Given the description of an element on the screen output the (x, y) to click on. 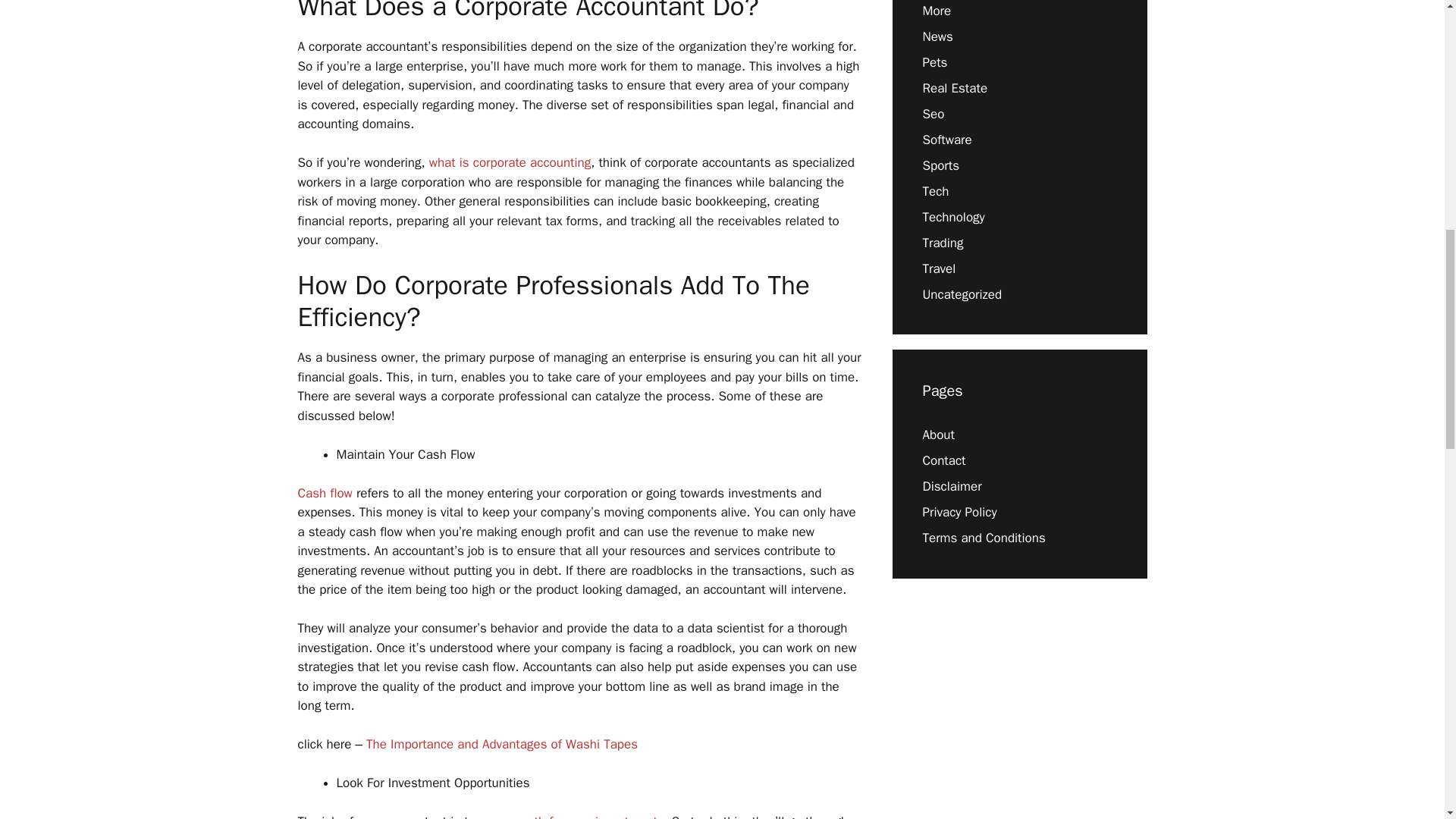
what is corporate accounting (510, 162)
pave a path for your investments (571, 816)
Cash flow (324, 493)
The Importance and Advantages of Washi Tapes (501, 744)
